Given the description of an element on the screen output the (x, y) to click on. 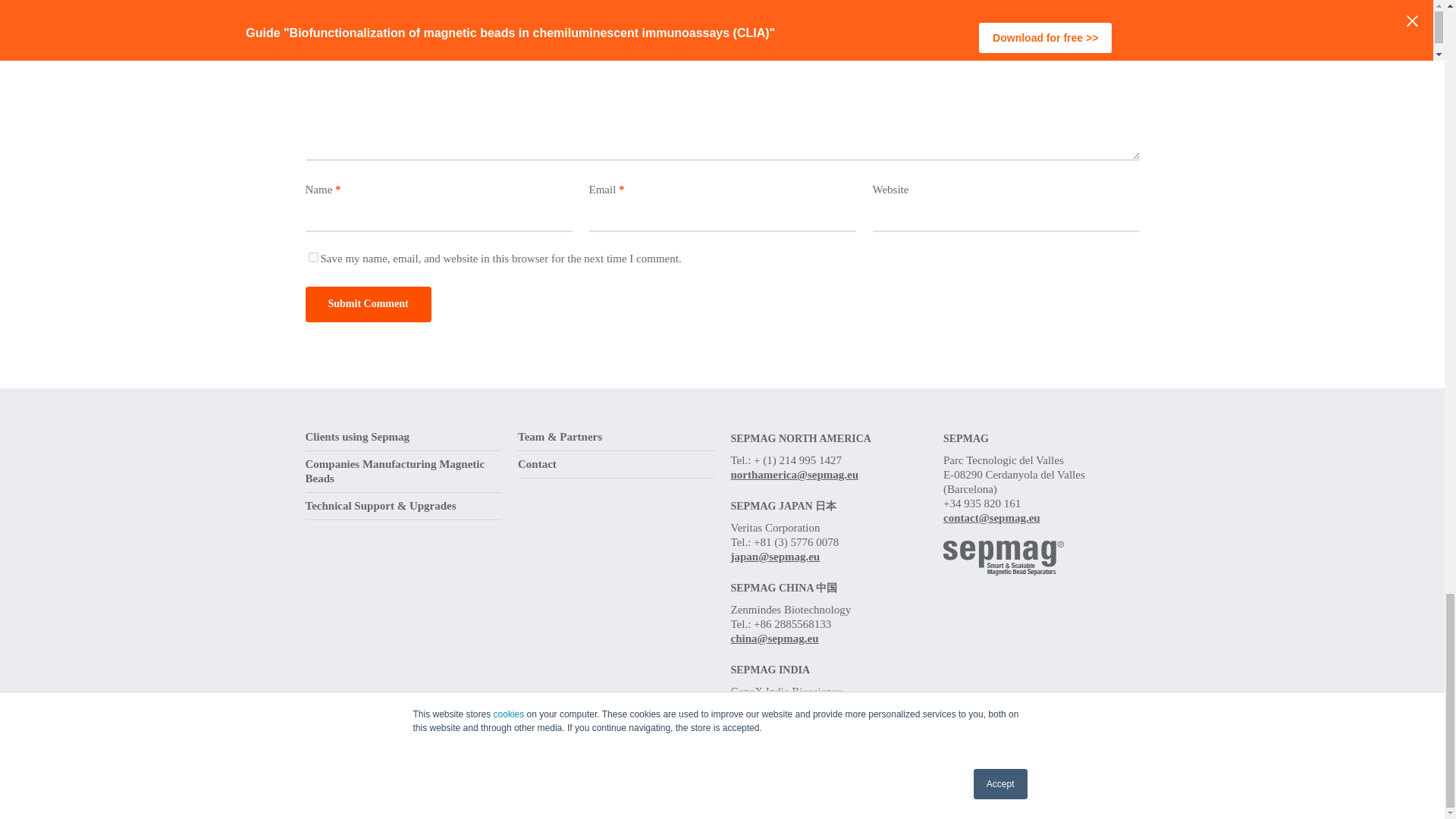
Companies Manufacturing Magnetic Beads (402, 471)
Contact (616, 464)
yes (312, 257)
Submit Comment (367, 304)
Submit Comment (367, 304)
Clients using Sepmag (402, 439)
